Given the description of an element on the screen output the (x, y) to click on. 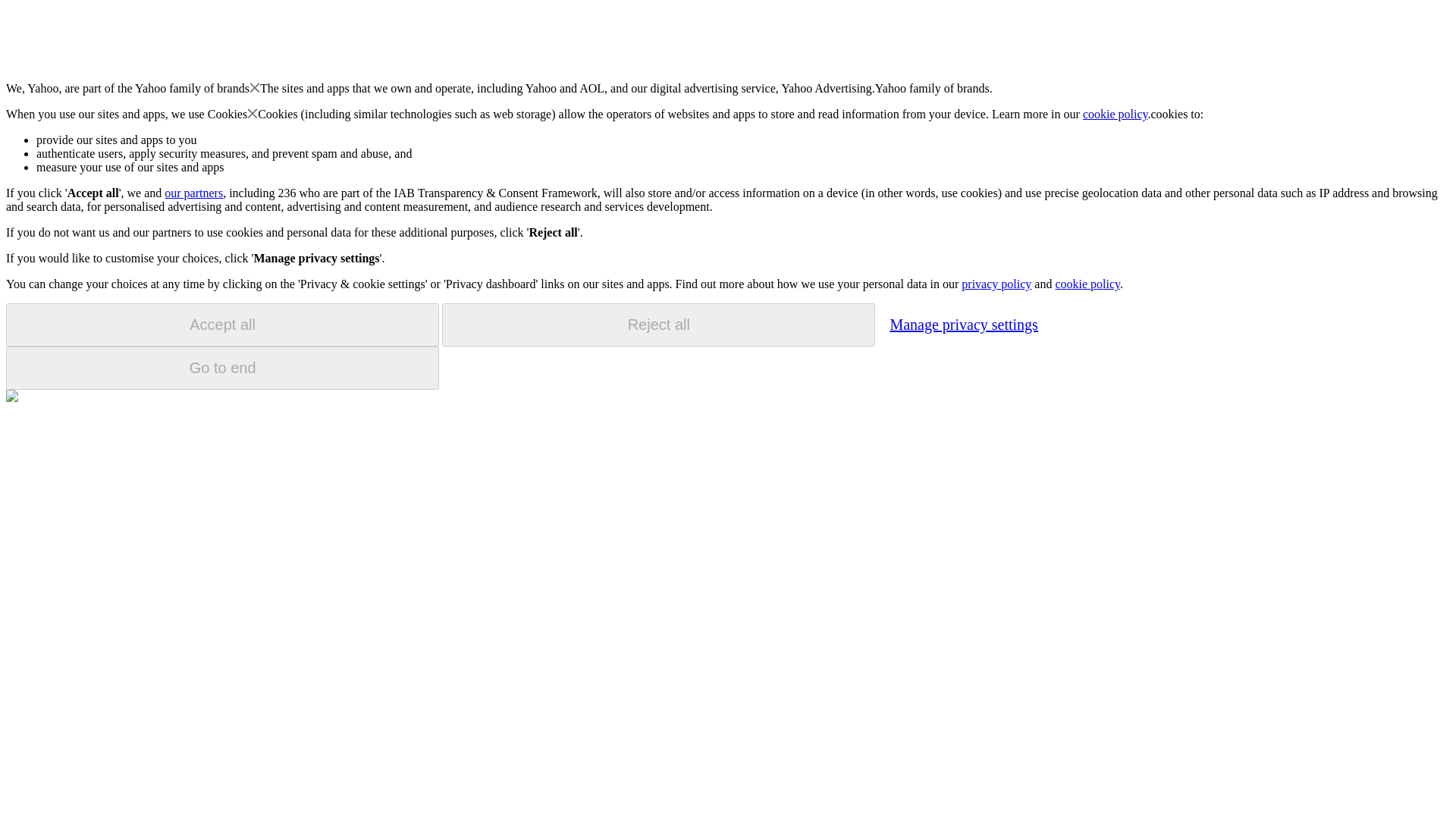
Accept all (222, 324)
privacy policy (995, 283)
Go to end (222, 367)
Manage privacy settings (963, 323)
cookie policy (1086, 283)
our partners (193, 192)
Reject all (658, 324)
cookie policy (1115, 113)
